Given the description of an element on the screen output the (x, y) to click on. 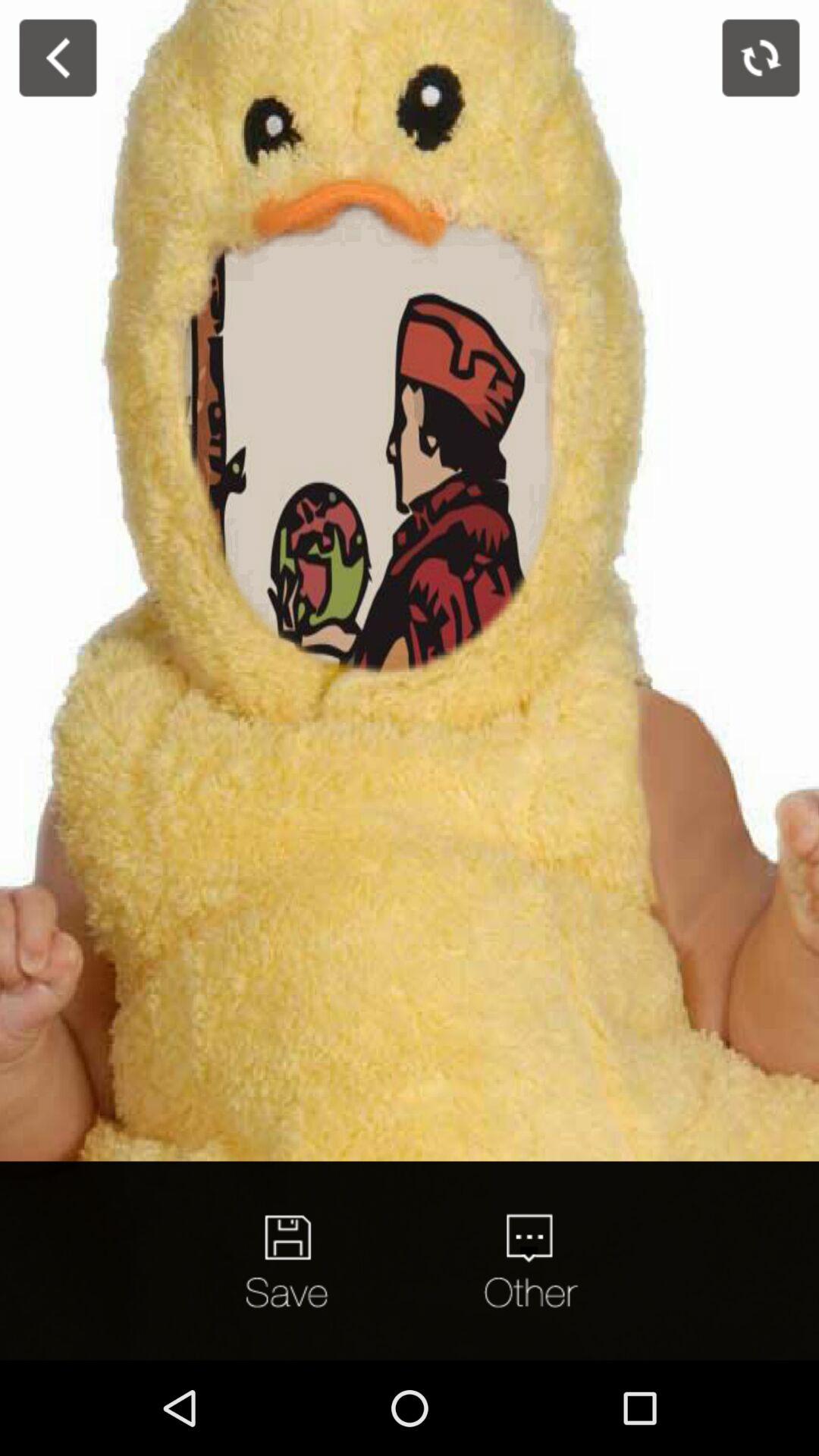
select other (528, 1260)
